Given the description of an element on the screen output the (x, y) to click on. 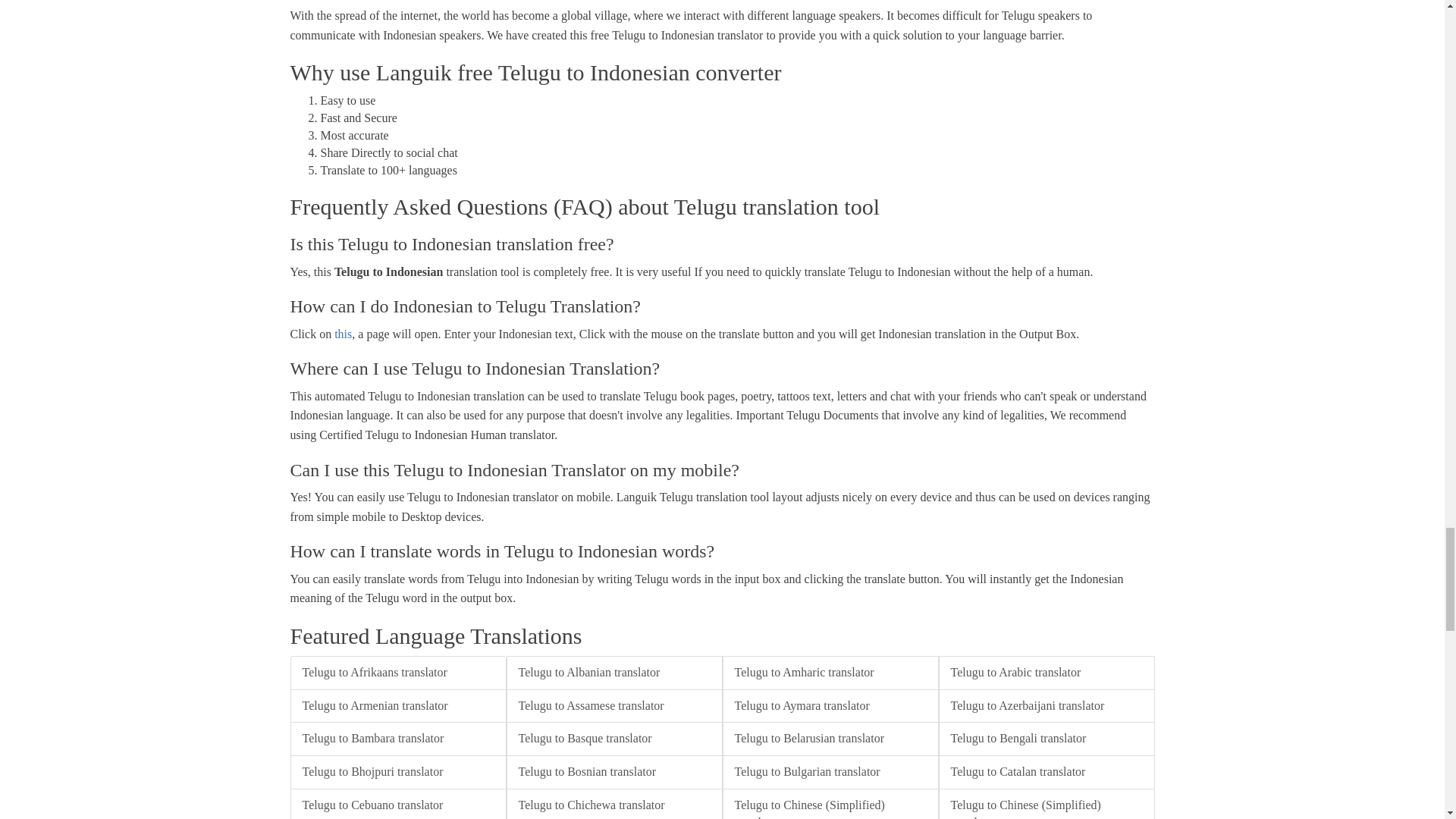
Telugu to Armenian translator (397, 706)
Telugu to Catalan translator (1046, 772)
Telugu to Bhojpuri translator (397, 772)
Telugu to Basque translator (614, 738)
Telugu to Bulgarian translator (829, 772)
this (343, 333)
Telugu to Amharic translator (829, 673)
Telugu to Albanian translator (614, 673)
Telugu to Assamese translator (614, 706)
Telugu to Belarusian translator (829, 738)
